Given the description of an element on the screen output the (x, y) to click on. 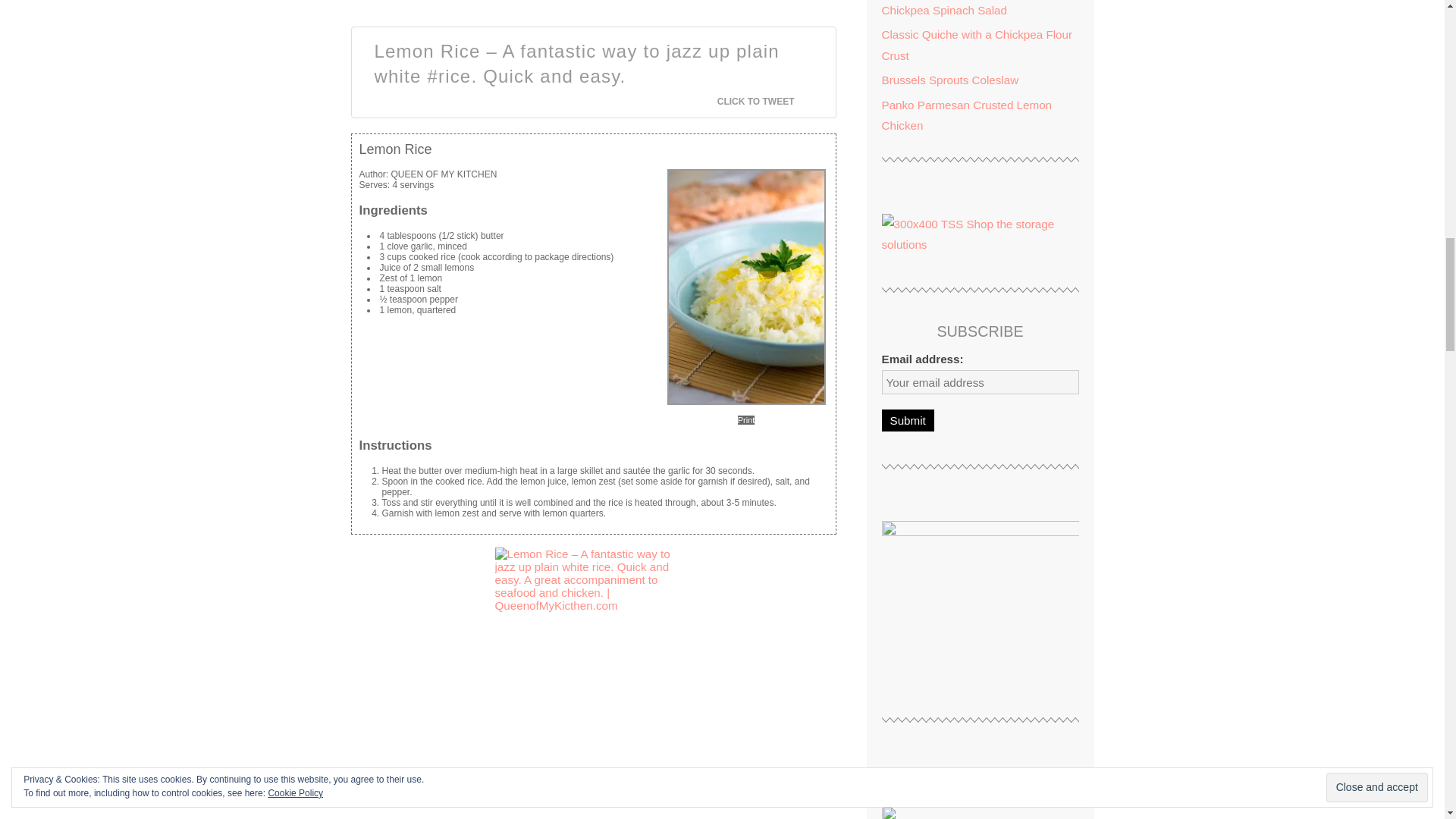
CLICK TO TWEET (764, 101)
Print (746, 420)
Submit (906, 420)
